Given the description of an element on the screen output the (x, y) to click on. 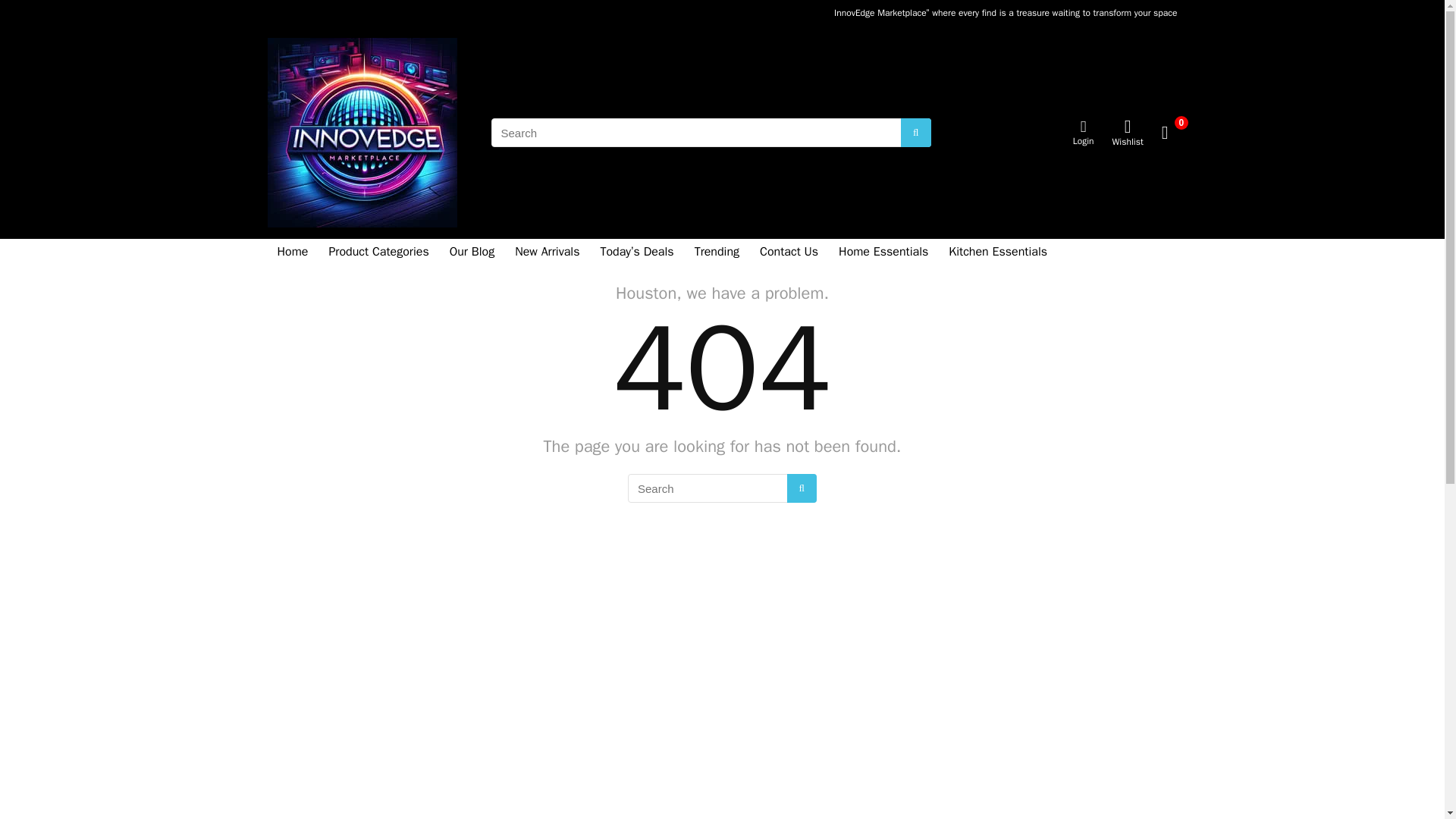
Our Blog (471, 253)
Kitchen Essentials (998, 253)
Contact Us (788, 253)
New Arrivals (547, 253)
Product Categories (378, 253)
Home Essentials (882, 253)
Trending (716, 253)
Home (291, 253)
